Given the description of an element on the screen output the (x, y) to click on. 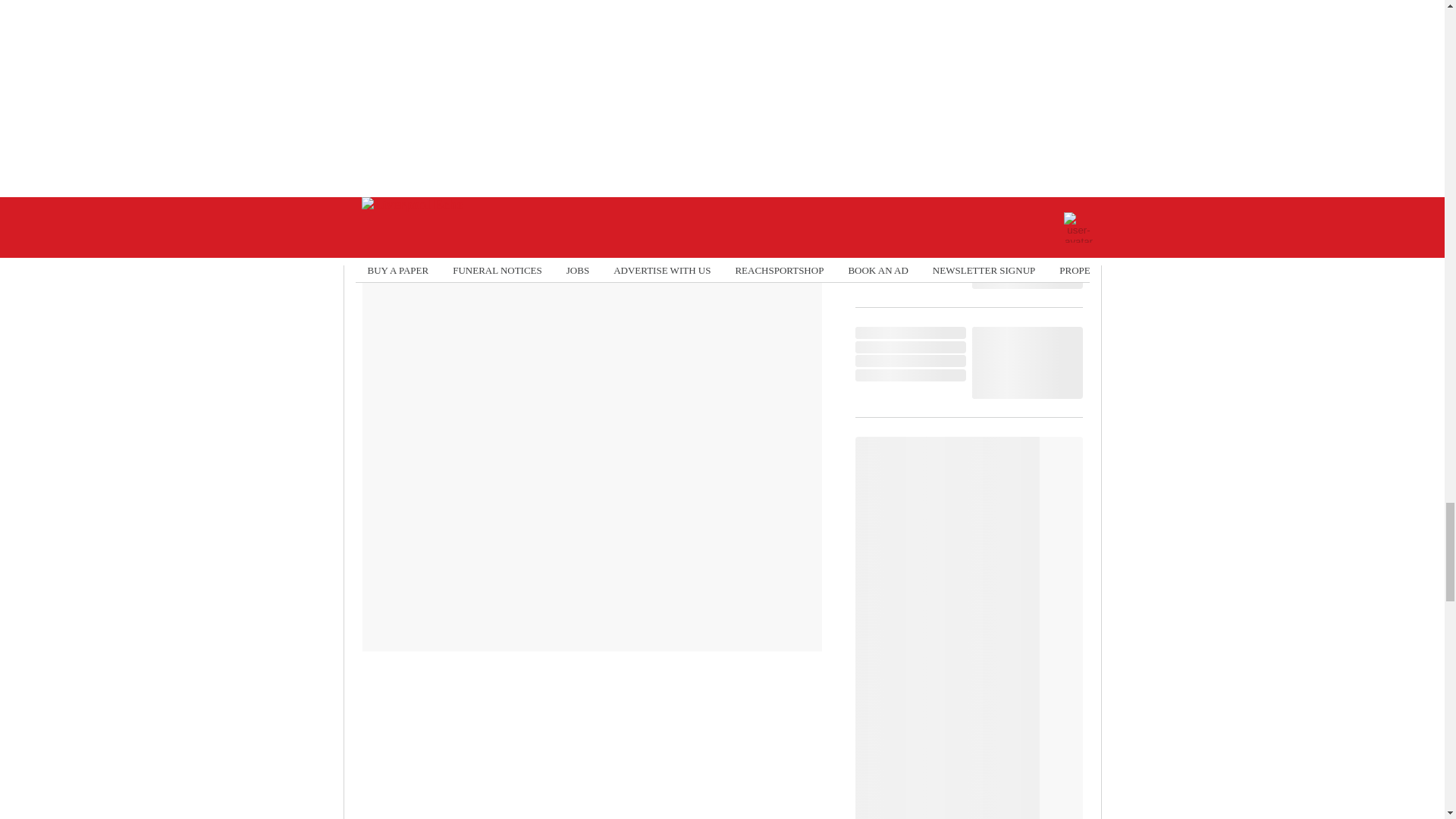
Facebook (421, 238)
Instagram (646, 238)
Twitter (533, 238)
